Given the description of an element on the screen output the (x, y) to click on. 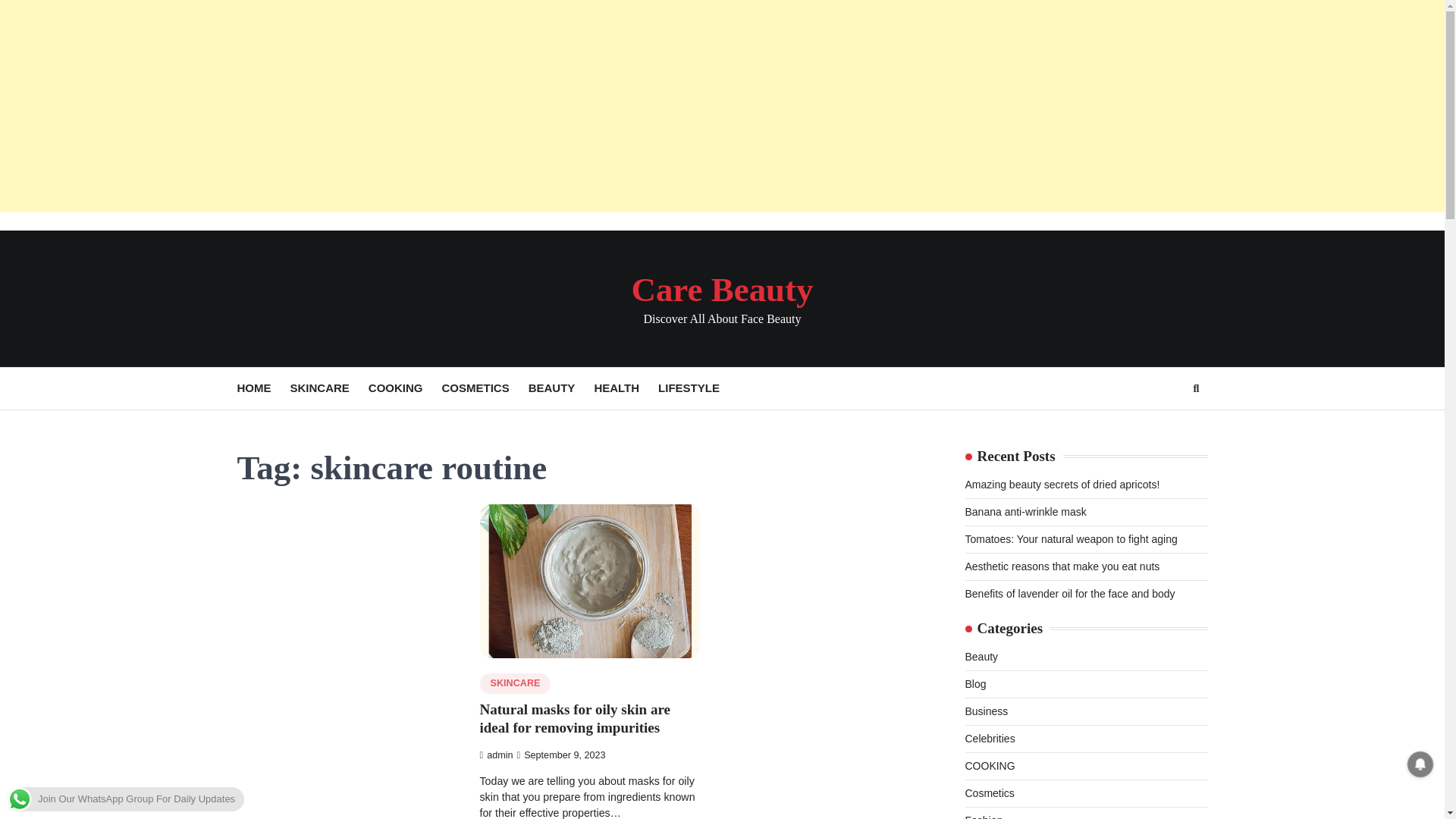
September 9, 2023 (560, 755)
HOME (262, 388)
Care Beauty (721, 289)
Search (1196, 388)
BEAUTY (561, 388)
COOKING (405, 388)
SKINCARE (328, 388)
LIFESTYLE (698, 388)
SKINCARE (514, 683)
Search (1168, 424)
COSMETICS (485, 388)
HEALTH (626, 388)
admin (495, 755)
